Given the description of an element on the screen output the (x, y) to click on. 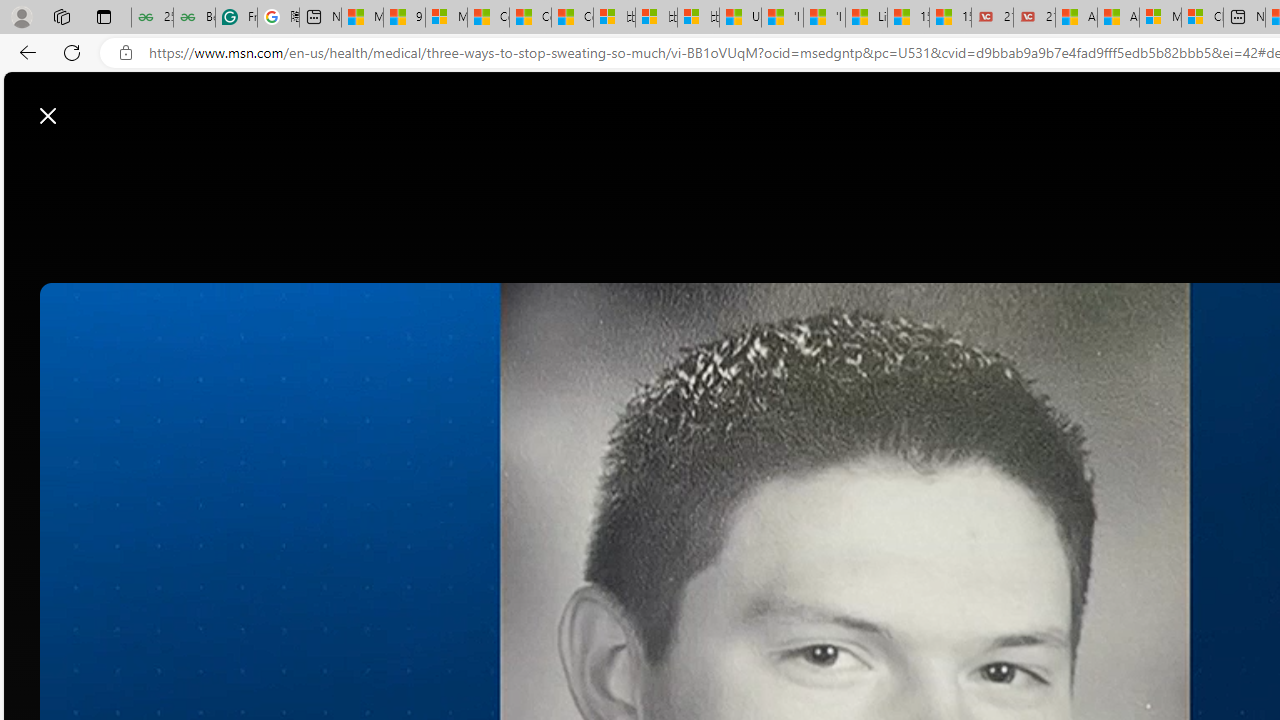
Discover (383, 162)
Following (465, 162)
Microsoft Start (361, 17)
Web search (731, 105)
